Given the description of an element on the screen output the (x, y) to click on. 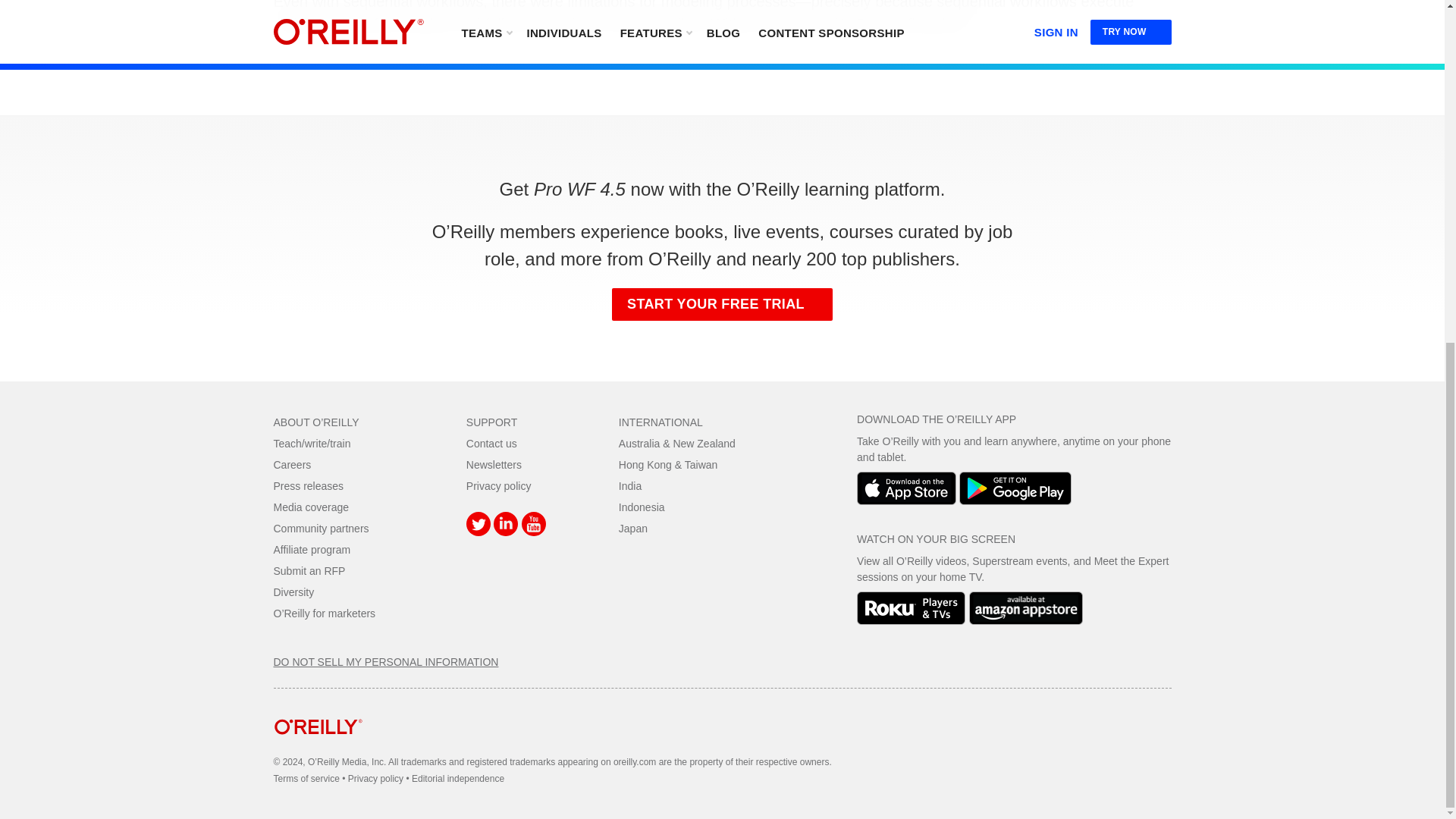
home page (317, 745)
Careers (292, 464)
Newsletters (493, 464)
Community partners (320, 528)
Submit an RFP (309, 571)
START YOUR FREE TRIAL (721, 304)
Privacy policy (498, 485)
Diversity (293, 592)
Affiliate program (311, 549)
Press releases (308, 485)
